Given the description of an element on the screen output the (x, y) to click on. 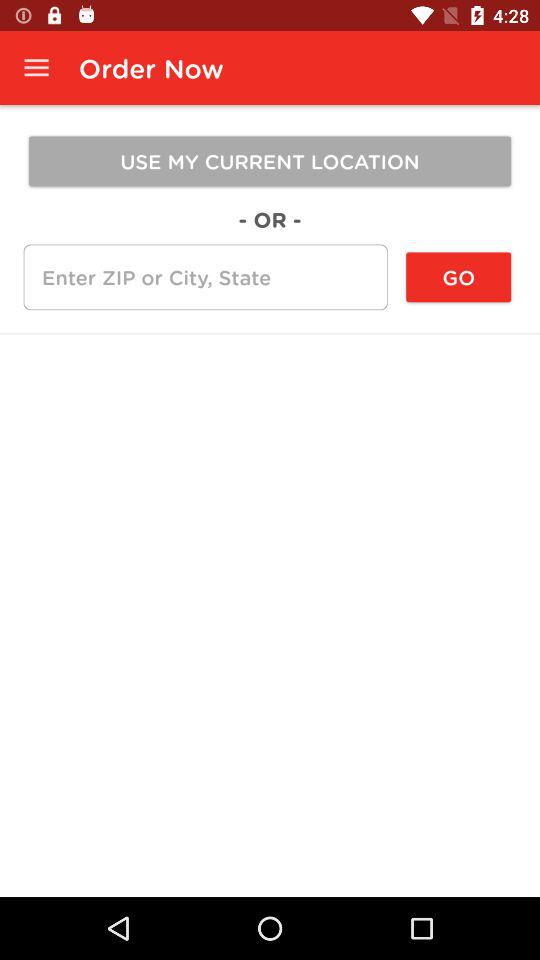
turn on the icon above - or - item (269, 161)
